Given the description of an element on the screen output the (x, y) to click on. 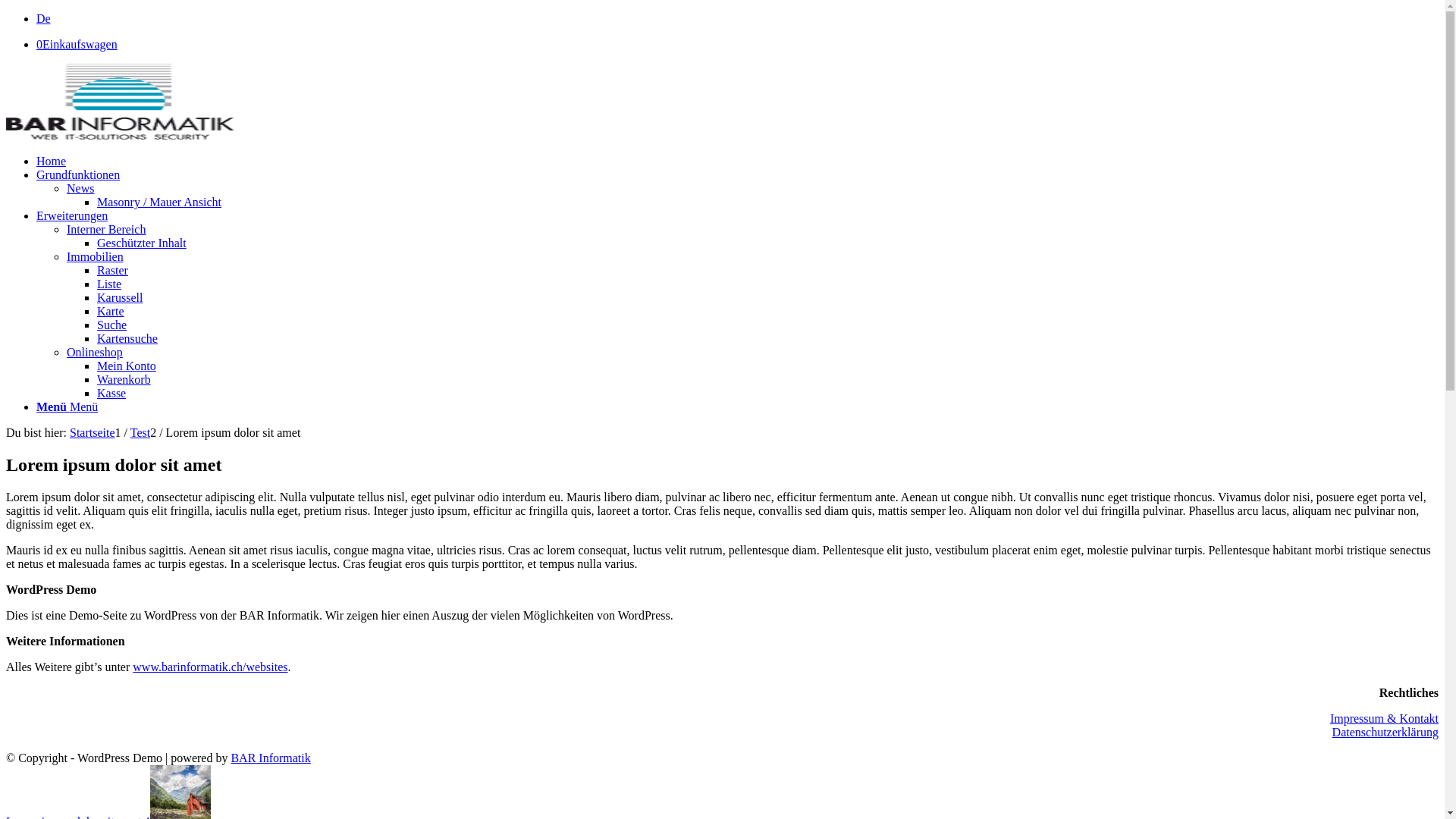
Suche Element type: text (111, 324)
Kartensuche Element type: text (127, 338)
Interner Bereich Element type: text (105, 228)
Grundfunktionen Element type: text (77, 174)
Home Element type: text (50, 160)
Erweiterungen Element type: text (71, 215)
Karte Element type: text (110, 310)
Impressum & Kontakt Element type: text (1384, 718)
Liste Element type: text (109, 283)
www.barinformatik.ch/websites Element type: text (209, 666)
Startseite Element type: text (92, 432)
Kasse Element type: text (111, 392)
Onlineshop Element type: text (94, 351)
0Einkaufswagen Element type: text (76, 43)
BAR Informatik Element type: text (270, 757)
Immobilien Element type: text (94, 256)
Karussell Element type: text (119, 297)
logo Element type: hover (119, 101)
logo Element type: hover (119, 134)
Mein Konto Element type: text (126, 365)
Test Element type: text (140, 432)
News Element type: text (80, 188)
Raster Element type: text (112, 269)
Masonry / Mauer Ansicht Element type: text (159, 201)
Warenkorb Element type: text (123, 379)
De Element type: text (43, 18)
